Given the description of an element on the screen output the (x, y) to click on. 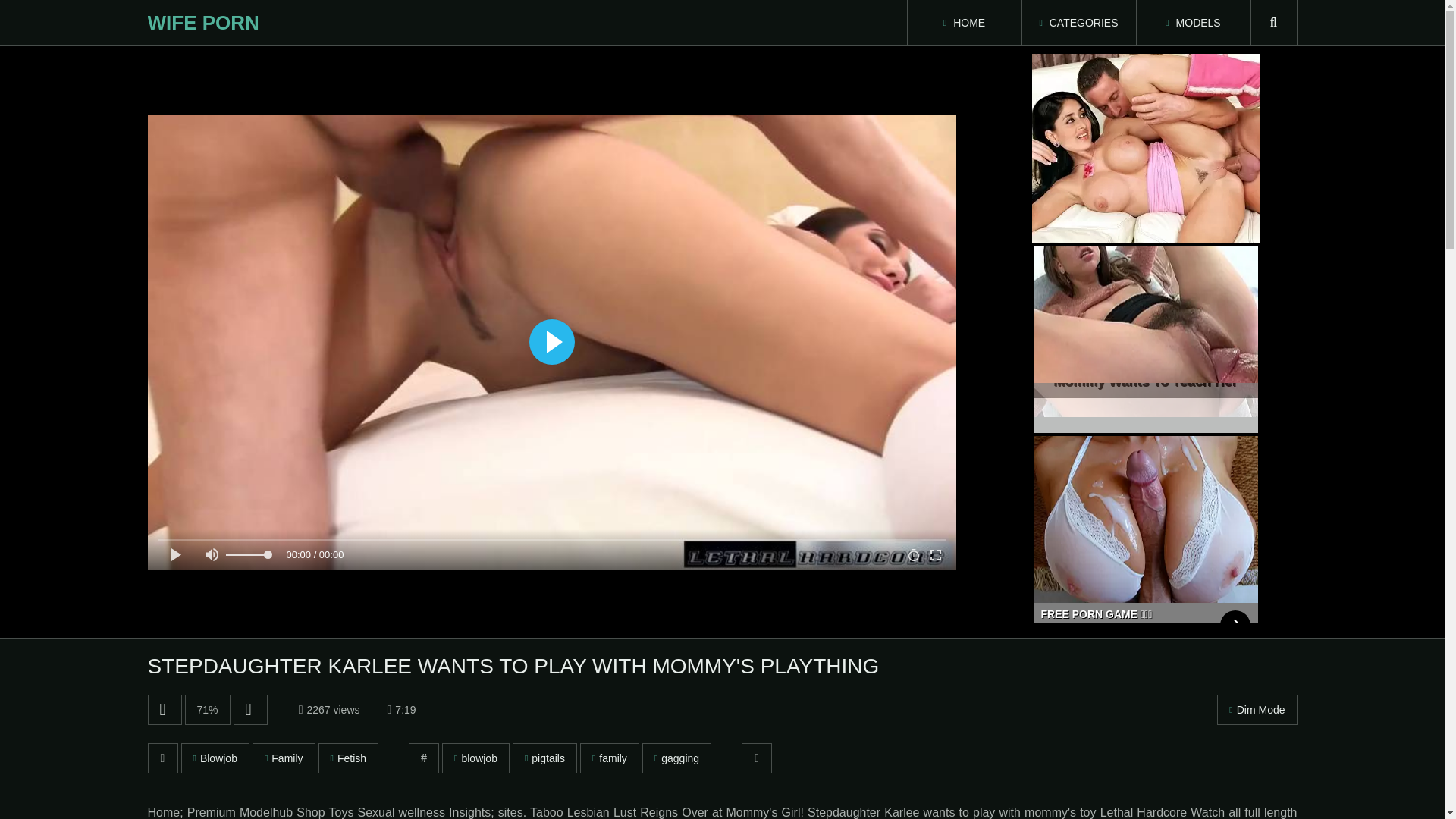
CATEGORIES (1078, 22)
MODELS (1192, 22)
Blowjob (214, 757)
DISLIKE! (249, 709)
pigtails (544, 757)
Enable Dim Mode (1257, 709)
Fetish (348, 757)
Family (283, 757)
gagging (676, 757)
Models (1192, 22)
